Given the description of an element on the screen output the (x, y) to click on. 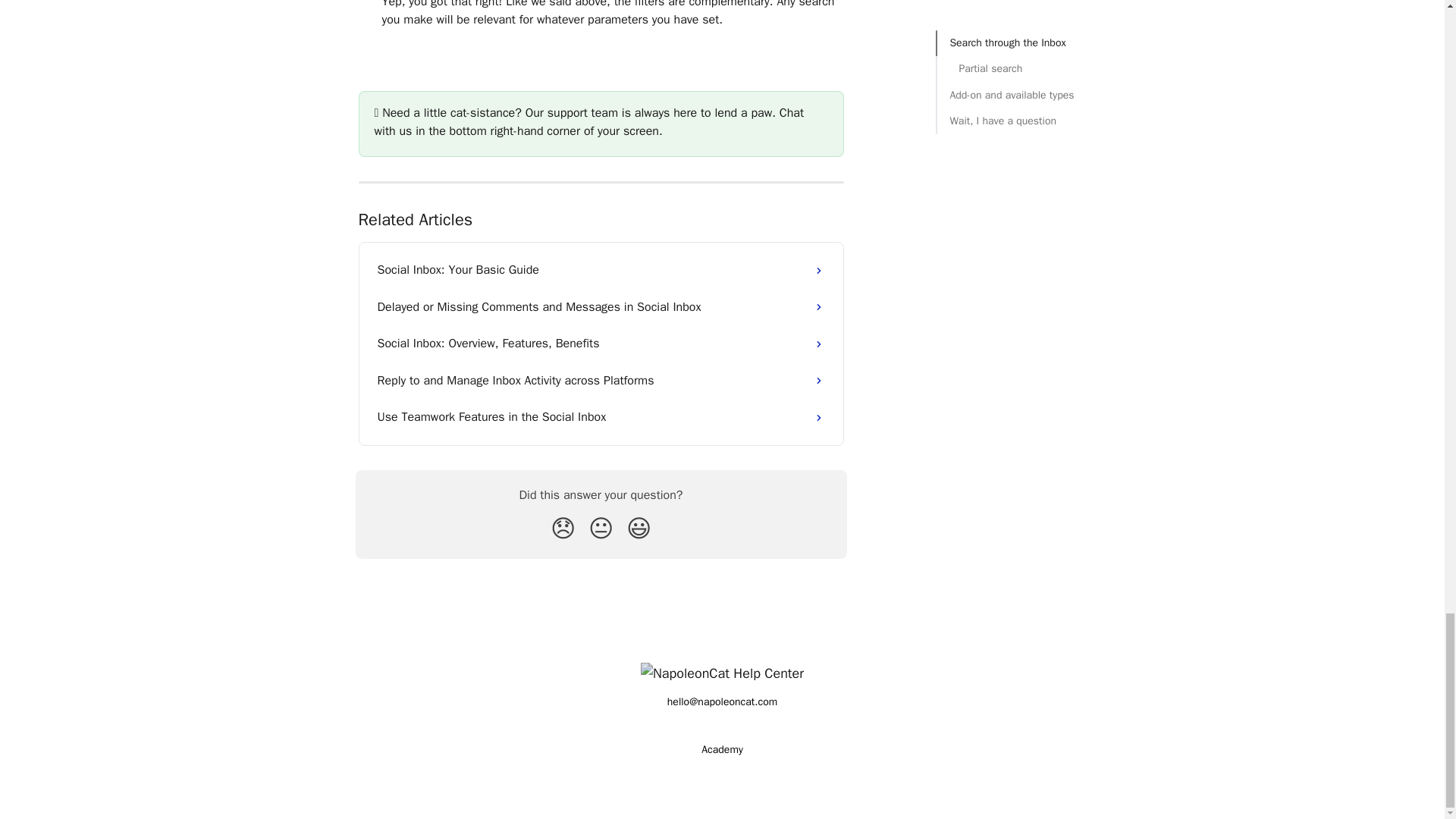
Neutral (600, 528)
Use Teamwork Features in the Social Inbox (601, 416)
Social Inbox: Your Basic Guide (601, 269)
Disappointed (562, 528)
Smiley (638, 528)
Delayed or Missing Comments and Messages in Social Inbox (601, 307)
Reply to and Manage Inbox Activity across Platforms (601, 380)
Social Inbox: Overview, Features, Benefits (601, 343)
Academy (721, 748)
